Given the description of an element on the screen output the (x, y) to click on. 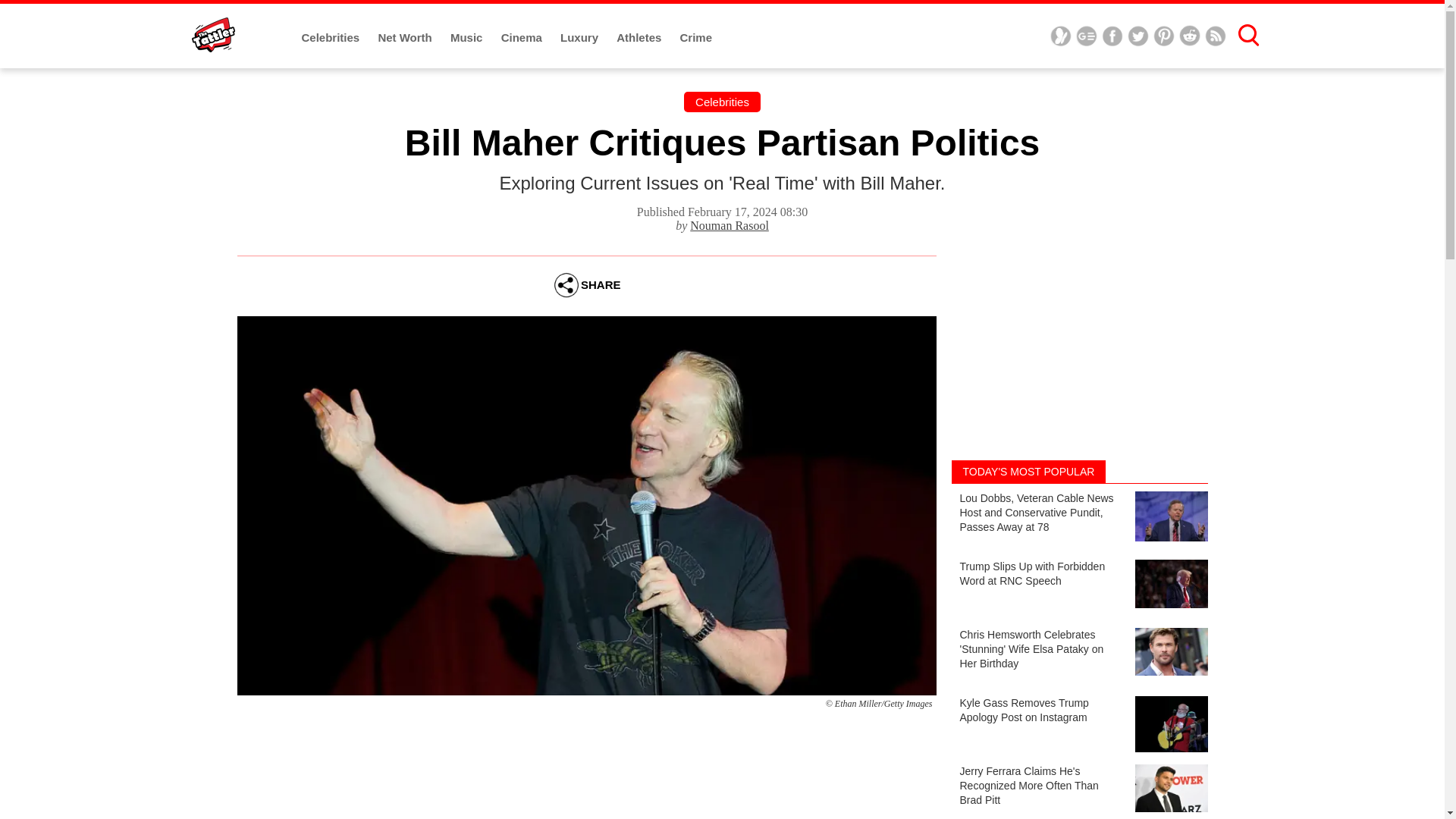
Cinema (522, 37)
Athletes (639, 37)
Music (467, 37)
Celebrities (722, 101)
Net Worth (406, 37)
Celebrities (331, 37)
Luxury (580, 37)
Nouman Rasool (729, 225)
Crime (696, 37)
